Given the description of an element on the screen output the (x, y) to click on. 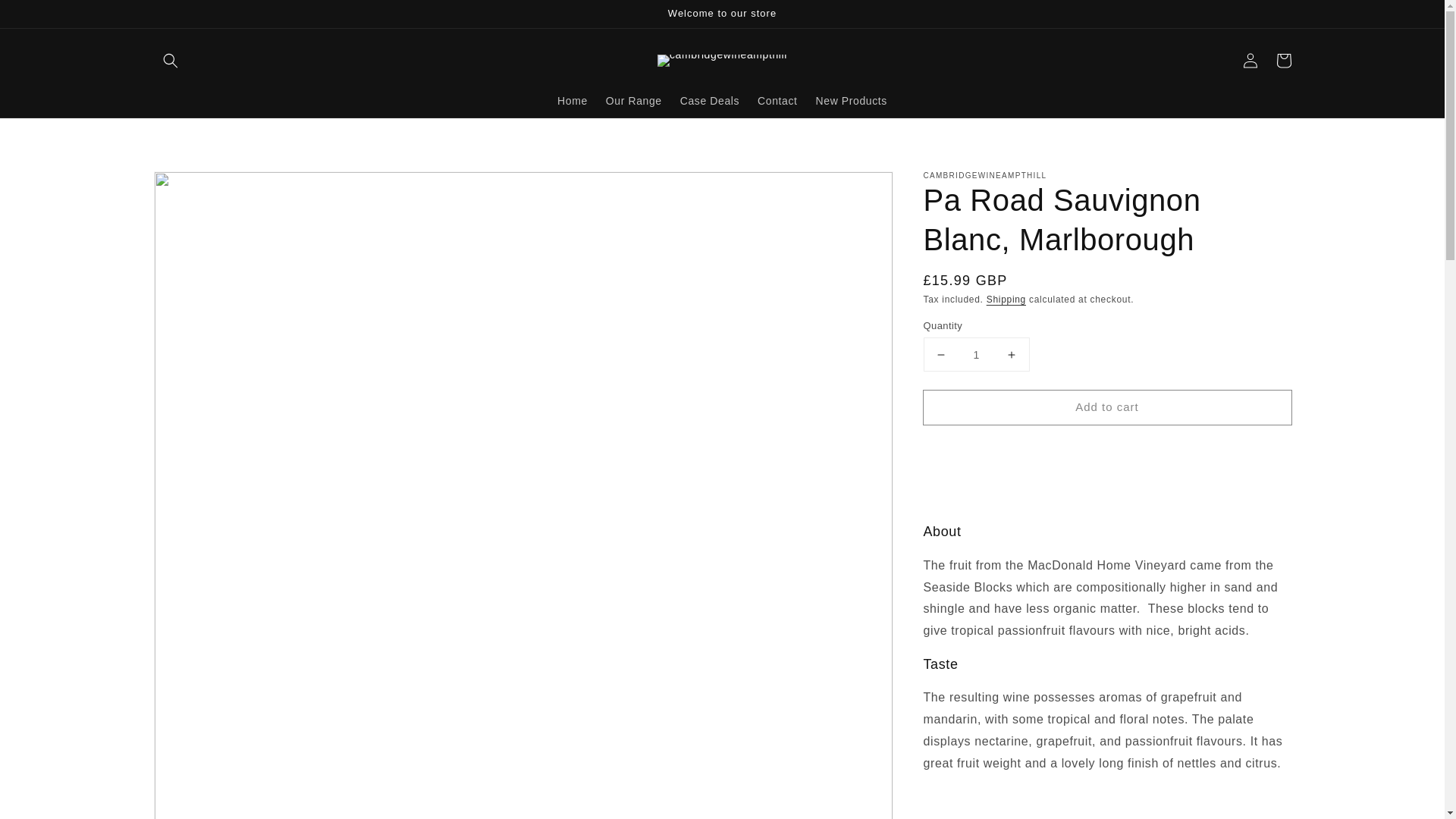
Home (572, 101)
Skip to product information (198, 187)
Decrease quantity for Pa Road Sauvignon Blanc, Marlborough (940, 354)
Skip to content (45, 16)
Contact (777, 101)
Shipping (1006, 299)
New Products (851, 101)
Log in (1249, 60)
Cart (1283, 60)
Increase quantity for Pa Road Sauvignon Blanc, Marlborough (1011, 354)
